Given the description of an element on the screen output the (x, y) to click on. 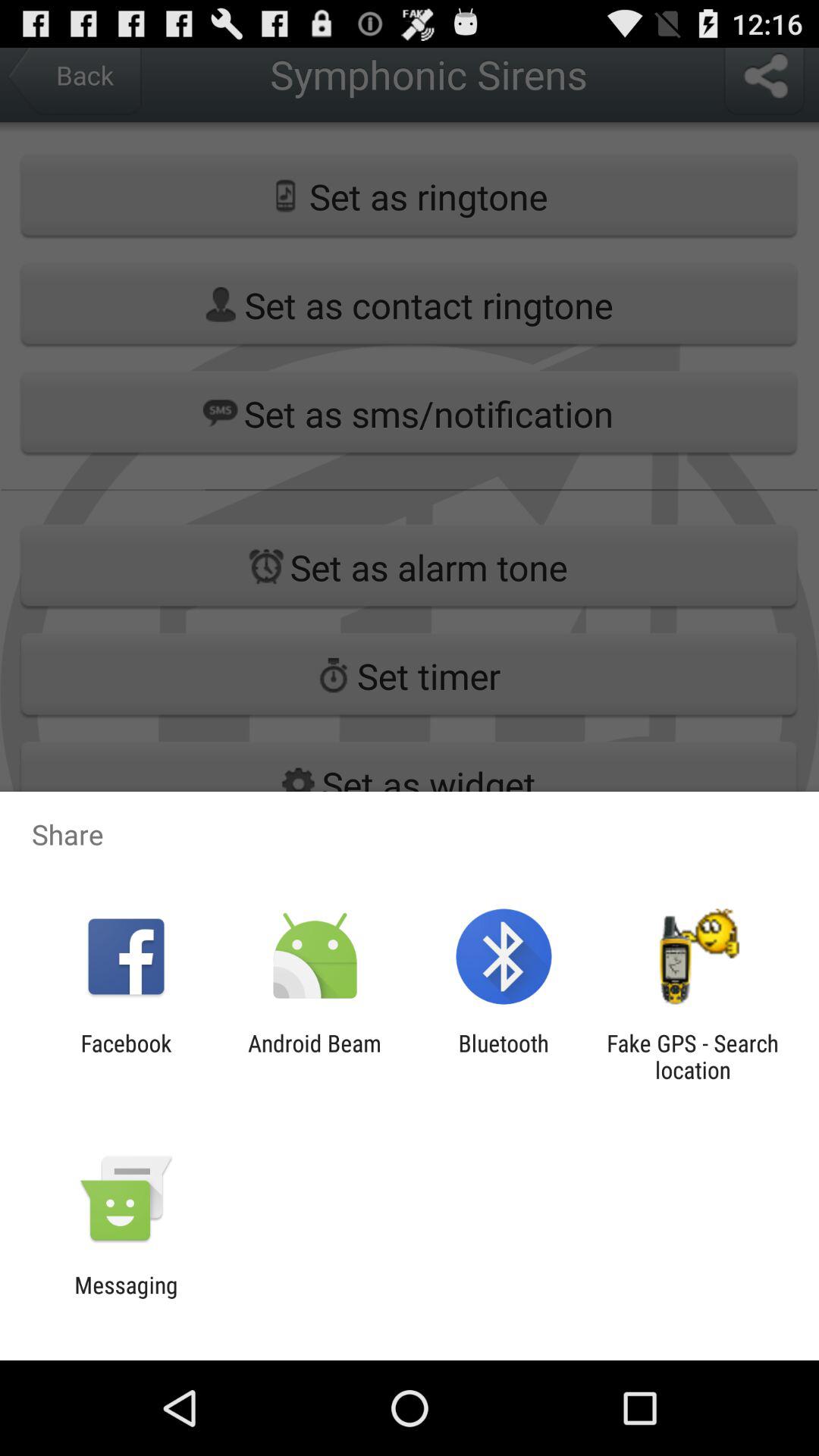
tap messaging icon (126, 1298)
